Given the description of an element on the screen output the (x, y) to click on. 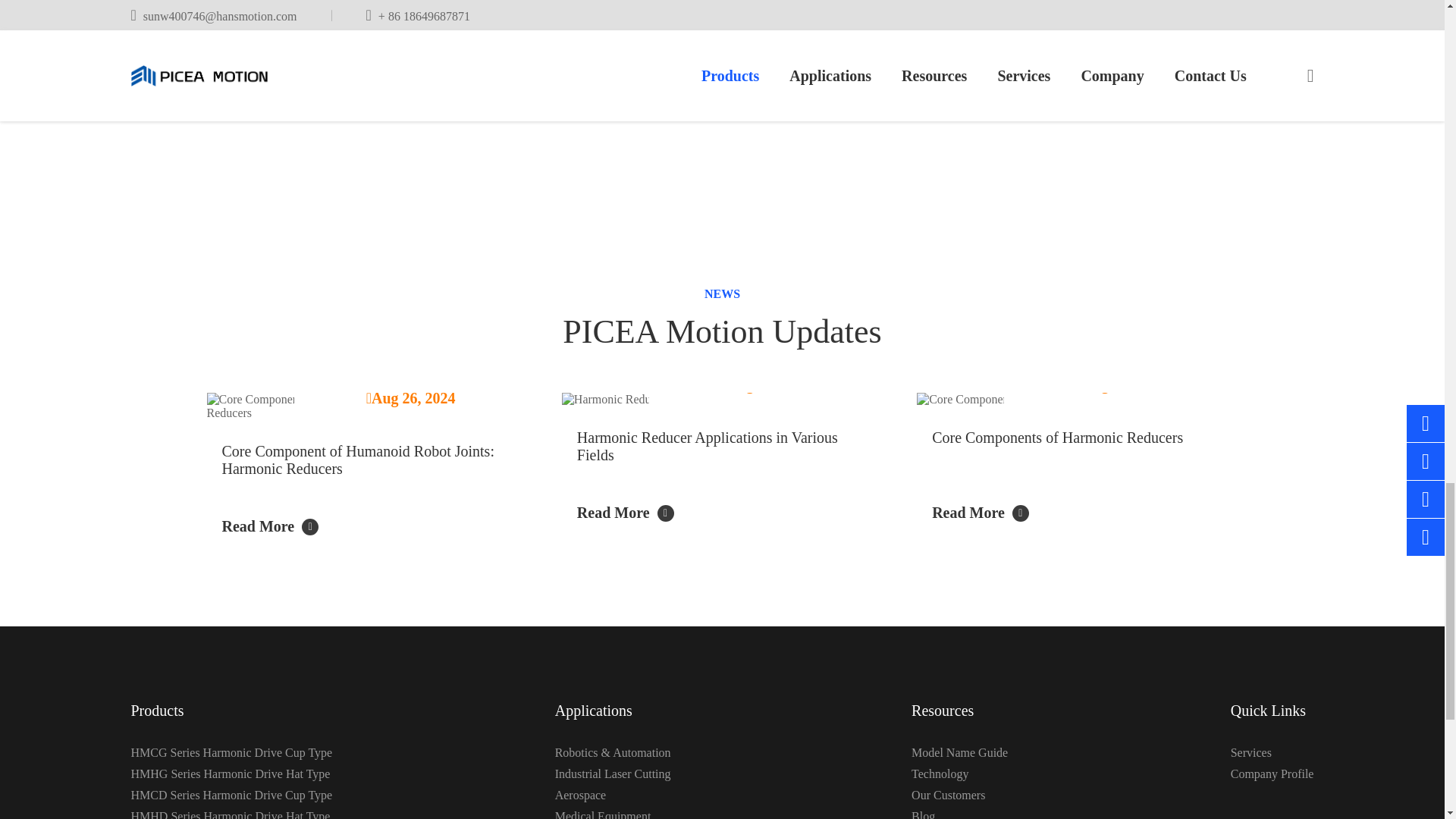
Core Components of Harmonic Reducers (1077, 399)
Core Component of Humanoid Robot Joints: Harmonic Reducers (366, 406)
Harmonic Reducer Applications in Various Fields (722, 399)
